Given the description of an element on the screen output the (x, y) to click on. 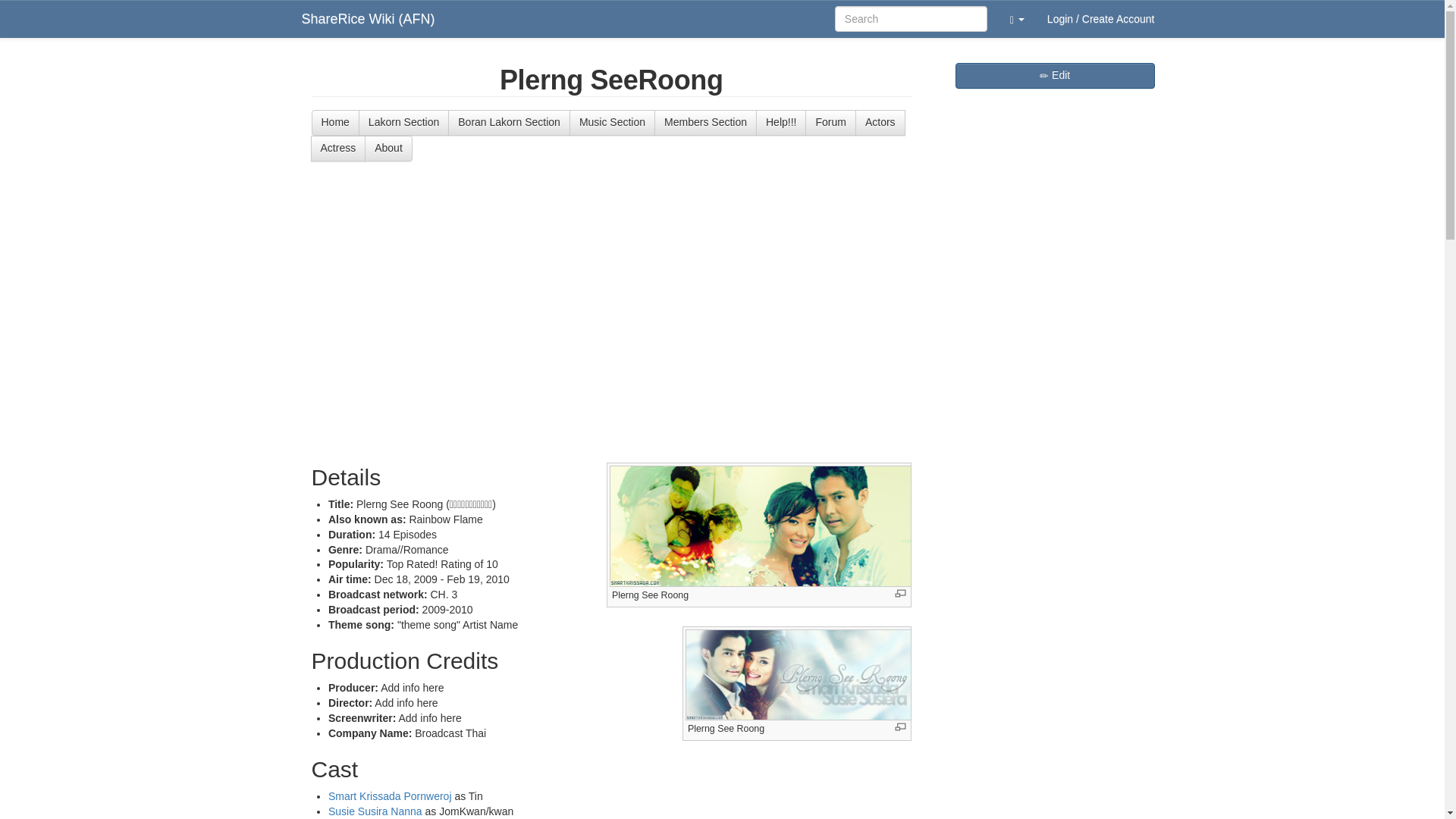
Susie Susira Nanna (375, 811)
Actress (338, 148)
Home (334, 122)
Susie Susira Nanna (375, 811)
Smart Krissada Pornweroj (390, 796)
Actors (880, 122)
Lakorn Section (403, 122)
Boran Lakorn Section (509, 122)
Enlarge (900, 592)
Smart Krissada Pornweroj (390, 796)
